Given the description of an element on the screen output the (x, y) to click on. 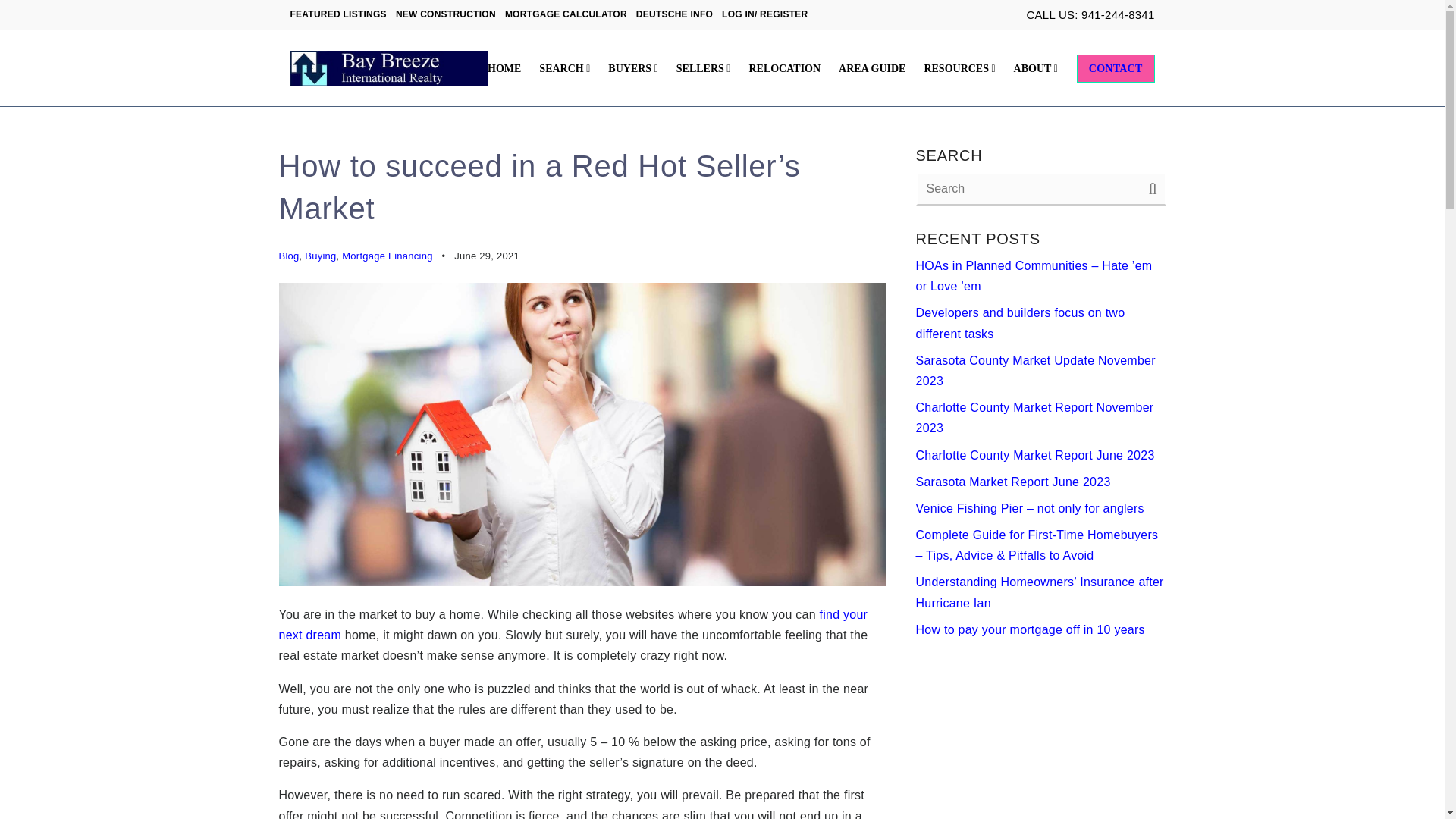
FEATURED LISTINGS (341, 14)
CONTACT (1115, 68)
HOME (504, 68)
AREA GUIDE (871, 68)
RESOURCES (959, 68)
ABOUT (1035, 68)
RELOCATION (784, 68)
NEW CONSTRUCTION (450, 14)
BUYERS (632, 68)
SELLERS (702, 68)
